Given the description of an element on the screen output the (x, y) to click on. 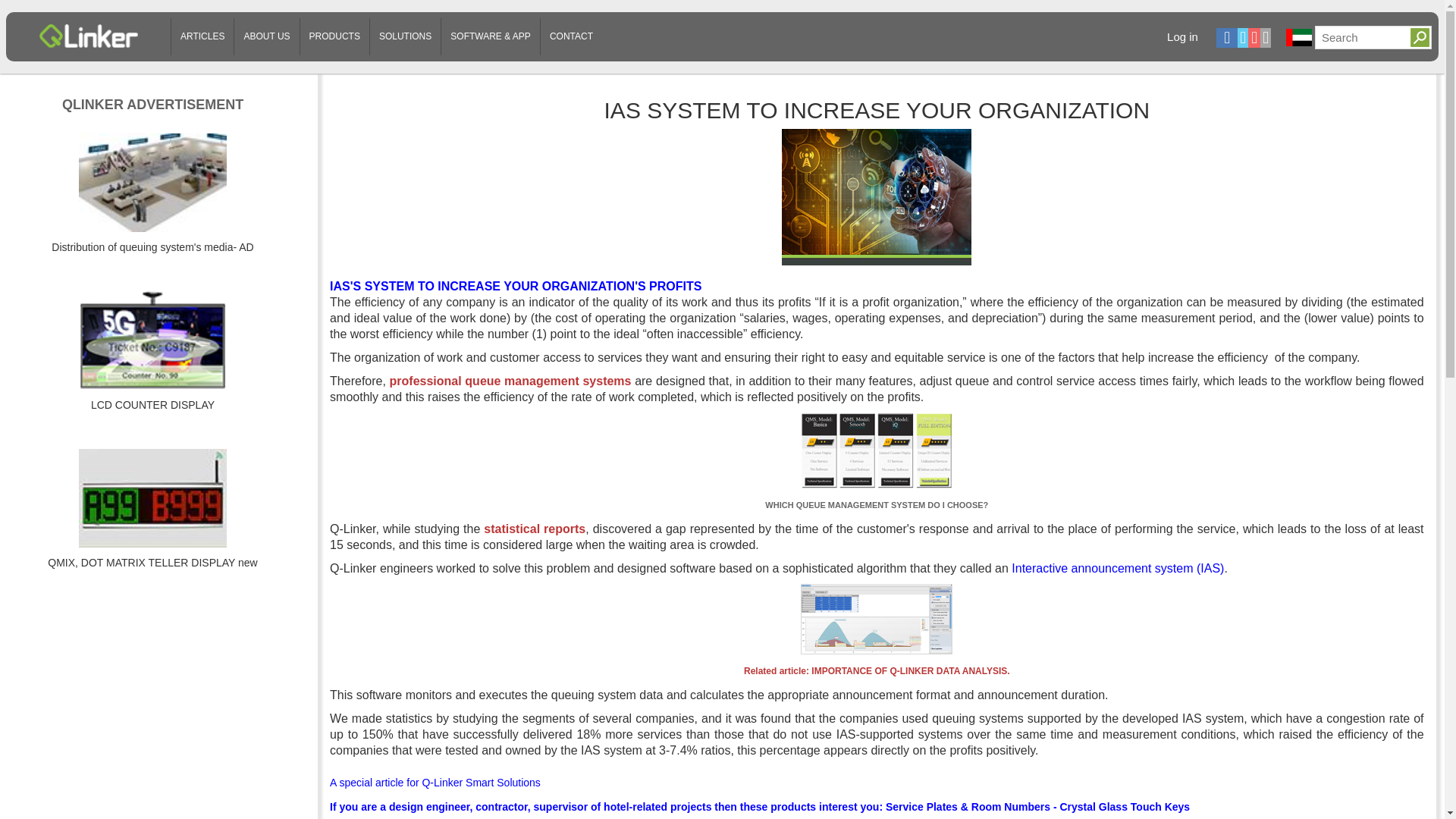
Qlinker (88, 29)
ARTICLES (603, 36)
ABOUT US (265, 36)
PRODUCTS (334, 36)
